Given the description of an element on the screen output the (x, y) to click on. 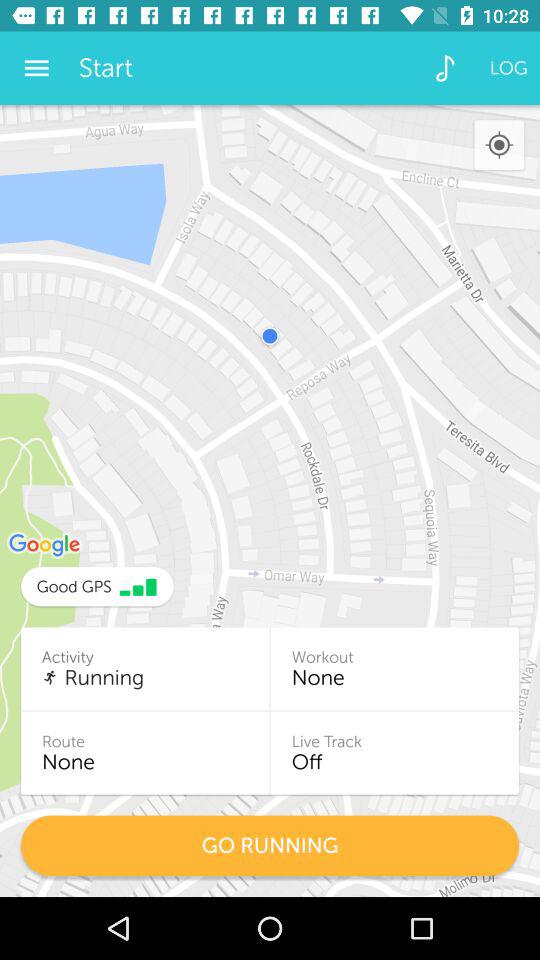
open the go running item (270, 845)
